Given the description of an element on the screen output the (x, y) to click on. 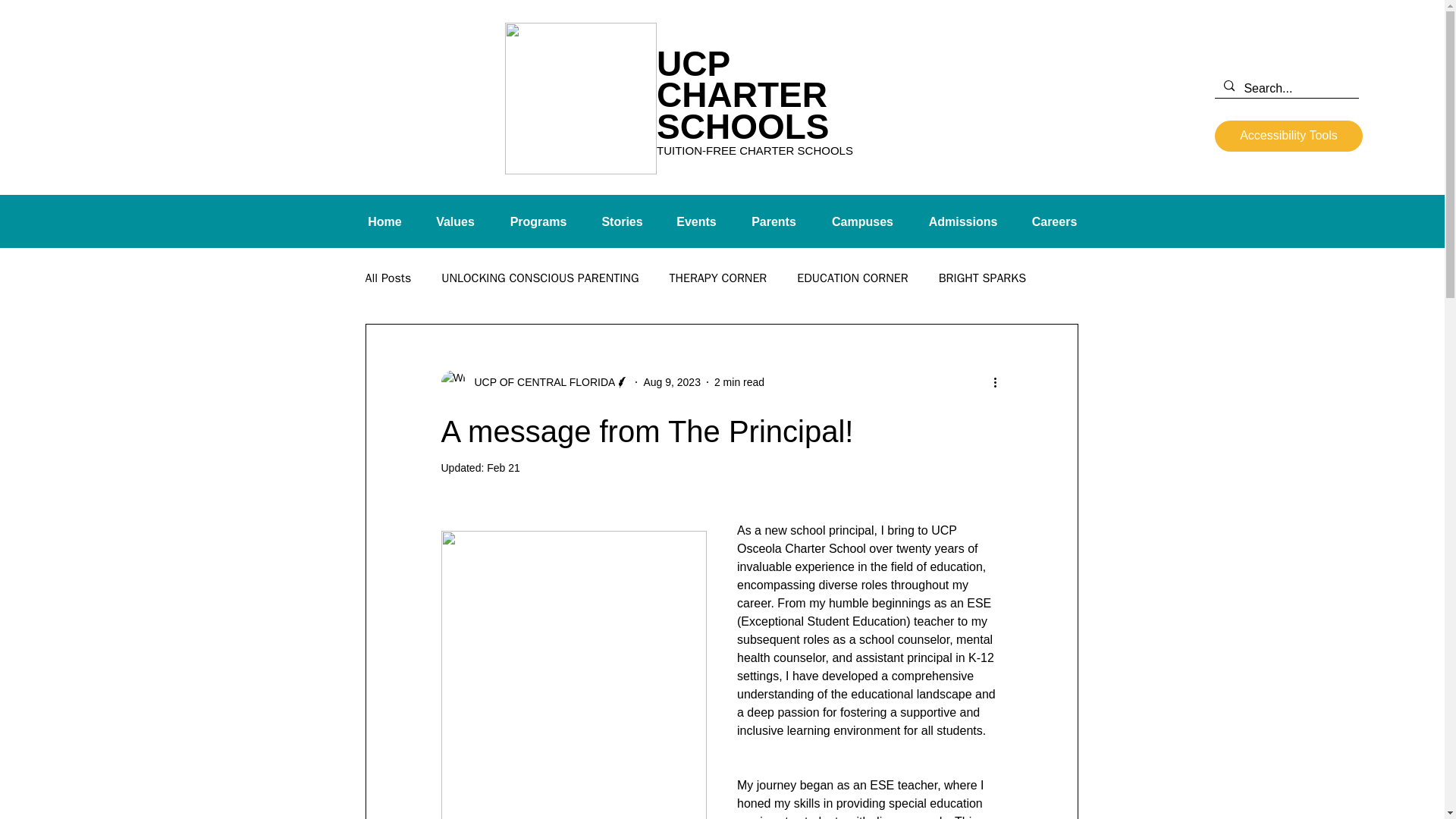
Events (696, 221)
EDUCATION CORNER (851, 278)
Home (384, 221)
Admissions (962, 221)
Parents (773, 221)
2 min read (739, 381)
Stories (622, 221)
THERAPY CORNER (717, 278)
All Posts (388, 278)
Campuses (862, 221)
BRIGHT SPARKS (982, 278)
Programs (538, 221)
Aug 9, 2023 (671, 381)
Careers (1053, 221)
UNLOCKING CONSCIOUS PARENTING (540, 278)
